Given the description of an element on the screen output the (x, y) to click on. 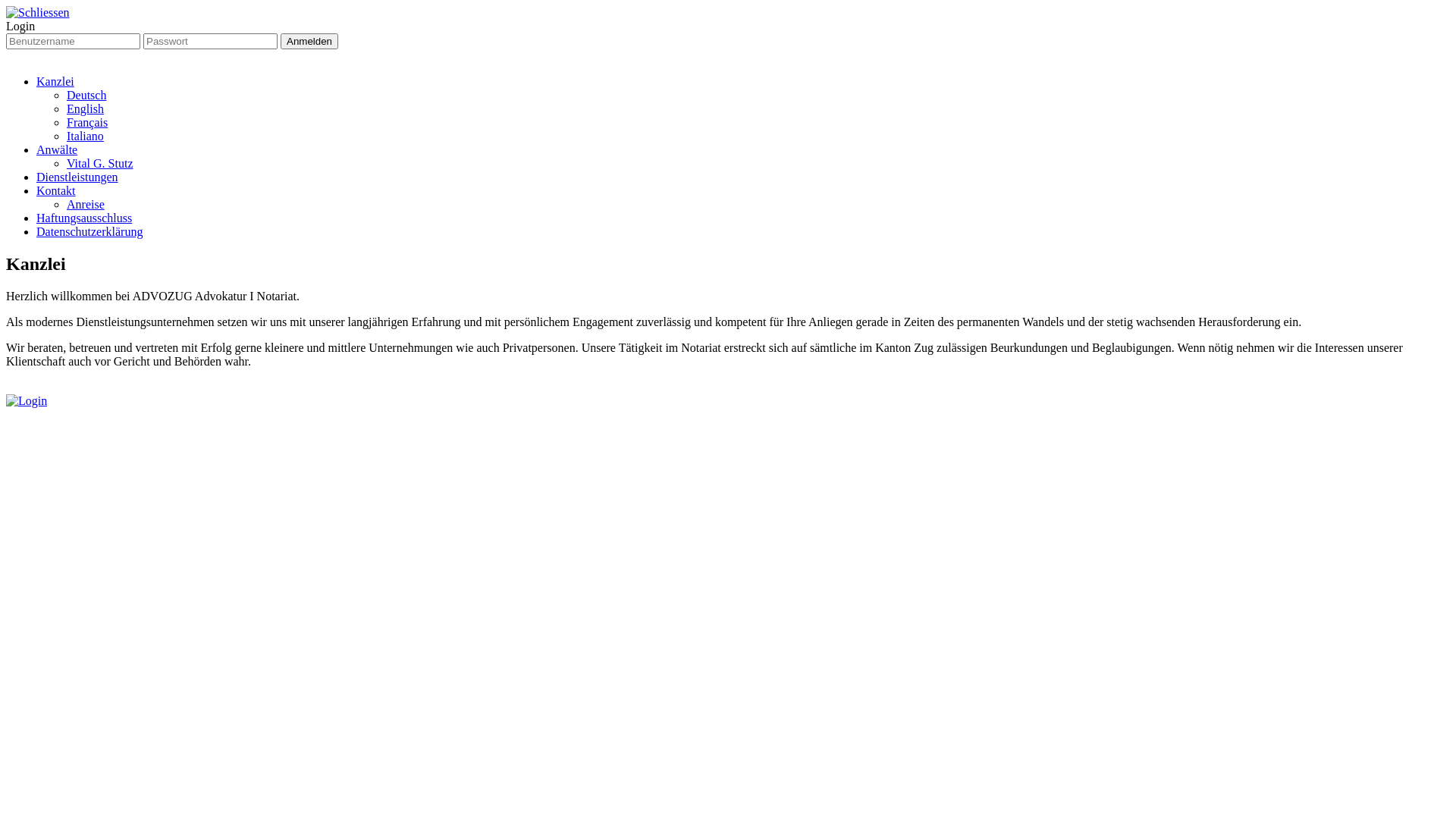
Anmelden Element type: text (309, 41)
Italiano Element type: text (84, 135)
Vital G. Stutz Element type: text (99, 162)
Haftungsausschluss Element type: text (83, 217)
Deutsch Element type: text (86, 94)
Dienstleistungen Element type: text (77, 176)
Kontakt Element type: text (55, 190)
Kanzlei Element type: text (55, 81)
English Element type: text (84, 108)
Anreise Element type: text (85, 203)
